Given the description of an element on the screen output the (x, y) to click on. 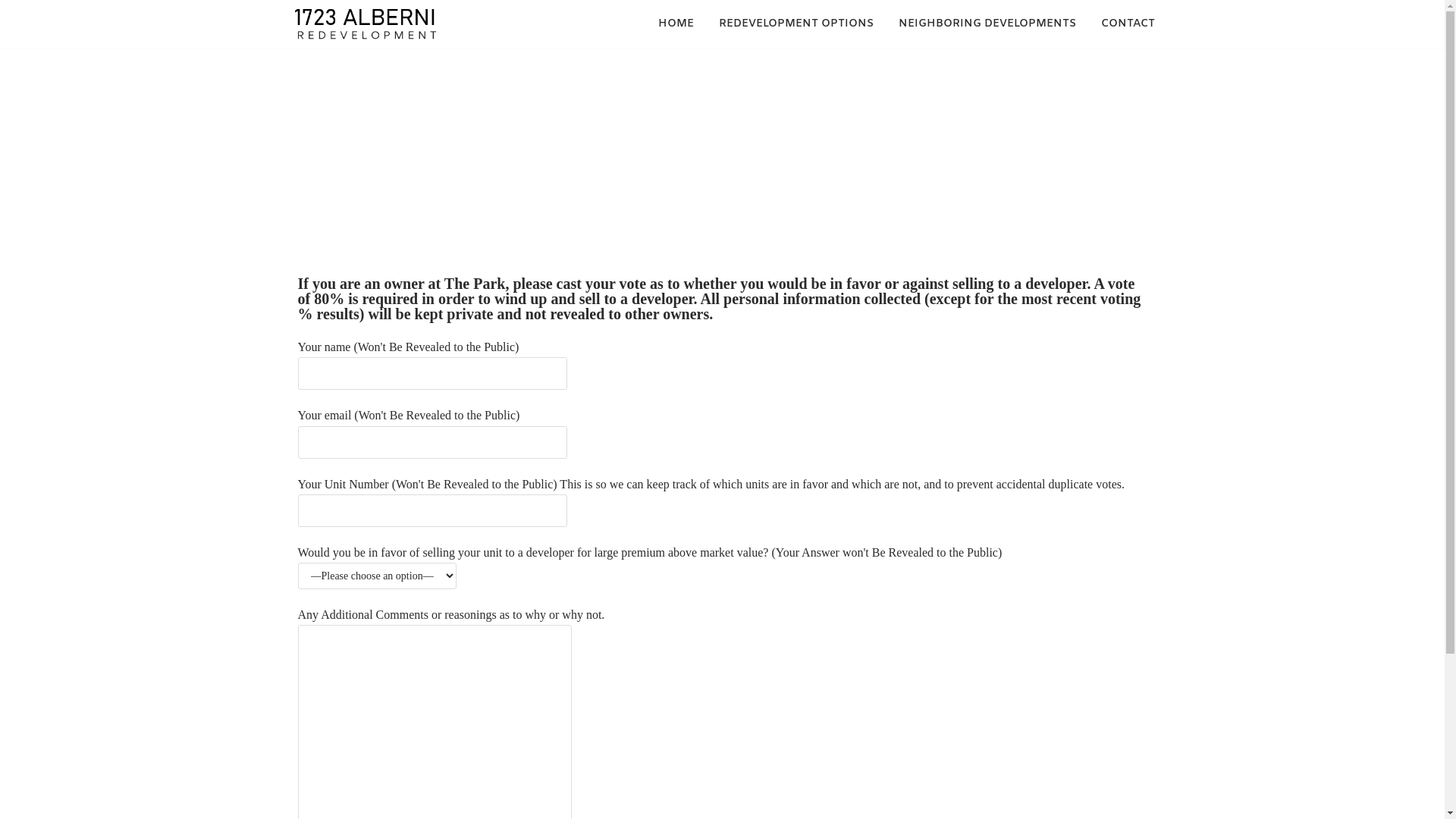
Skip to content Element type: text (15, 7)
HOME Element type: text (675, 23)
CONTACT Element type: text (1127, 23)
REDEVELOPMENT OPTIONS Element type: text (795, 23)
NEIGHBORING DEVELOPMENTS Element type: text (986, 23)
1723 Alberni Street - Redevelopment Options Element type: hover (365, 24)
